Given the description of an element on the screen output the (x, y) to click on. 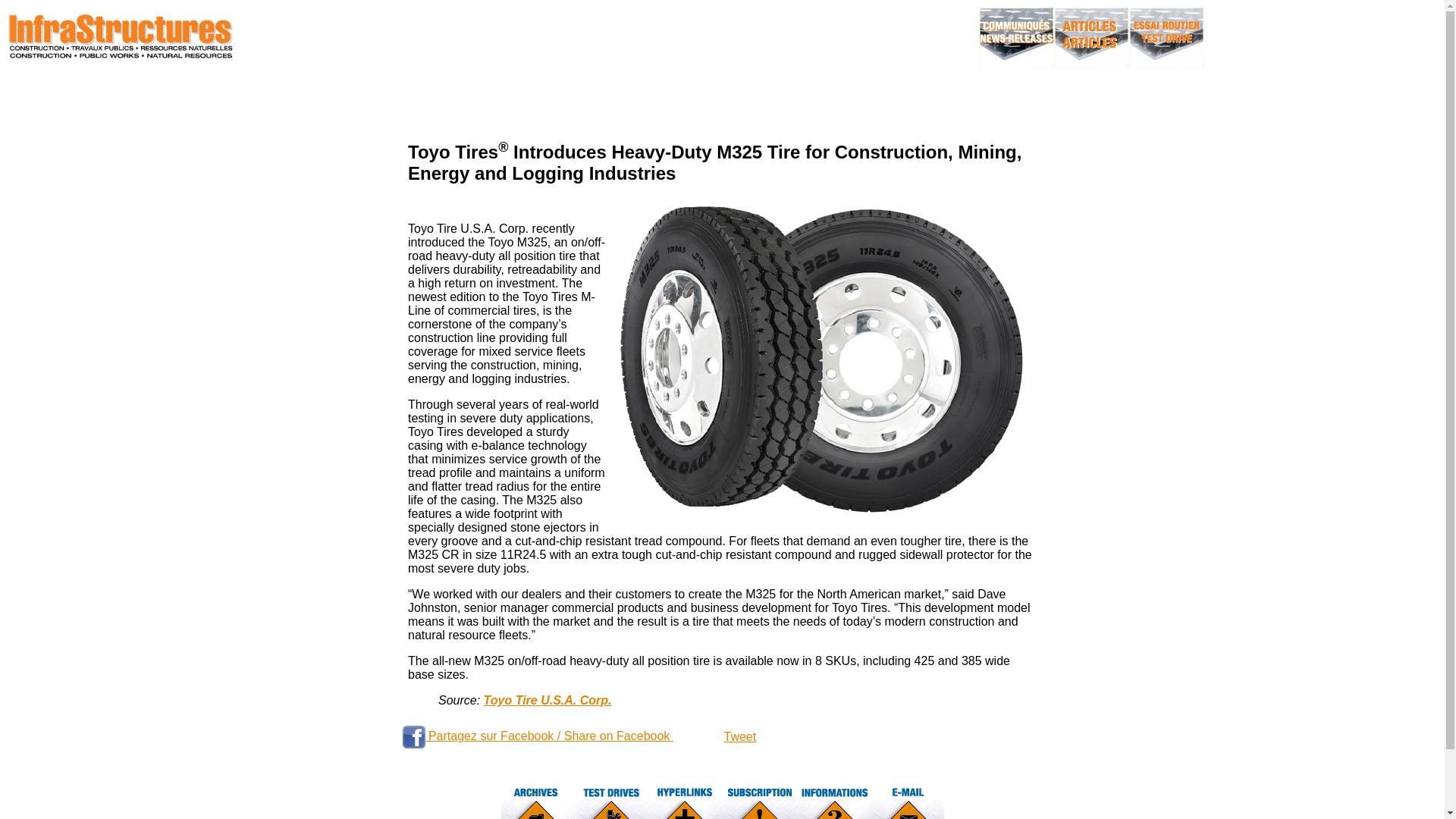
Toyo Tire U.S.A. Corp. (547, 699)
Tweet (739, 736)
